Given the description of an element on the screen output the (x, y) to click on. 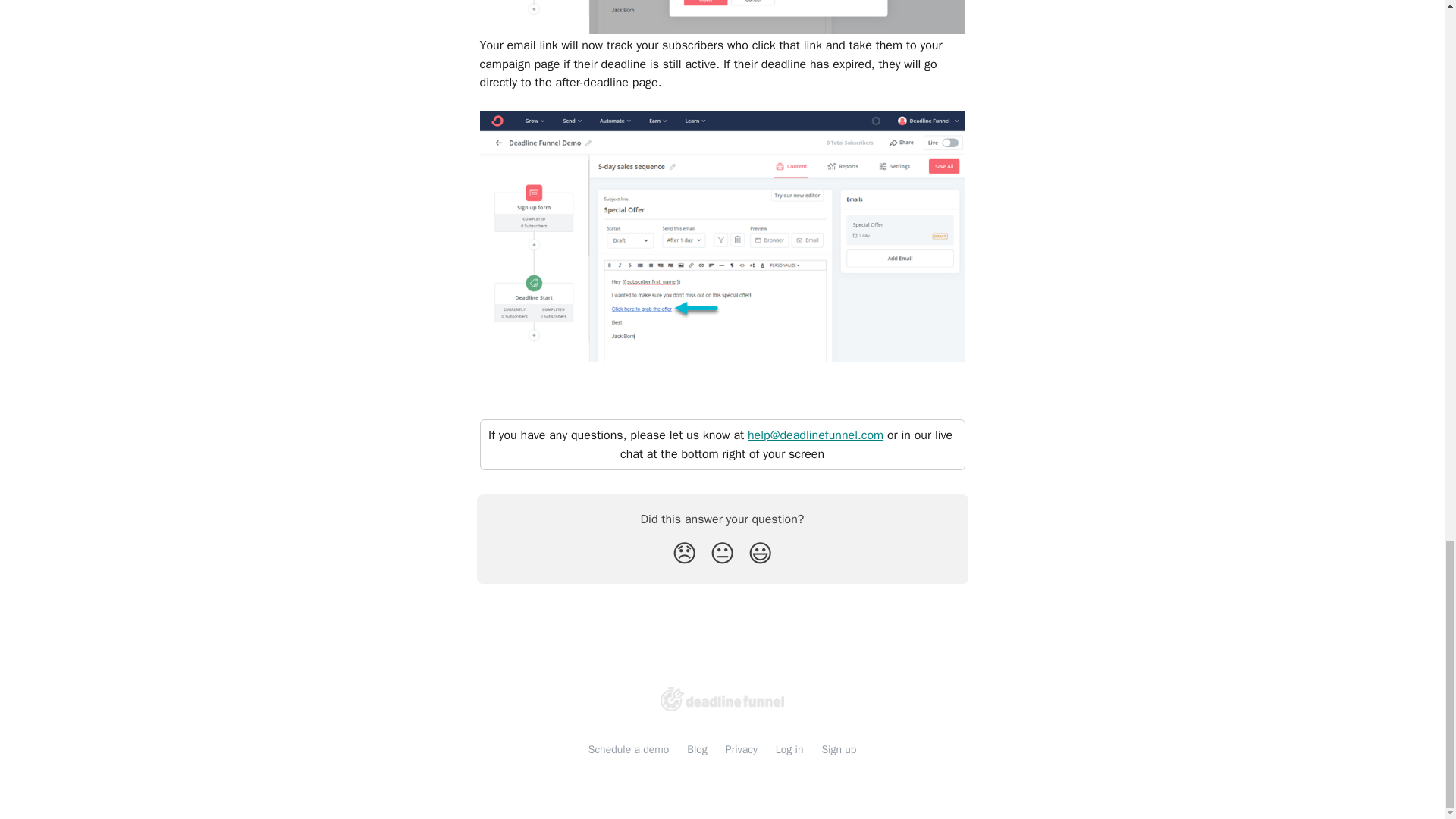
Blog (697, 748)
Sign up (838, 748)
Privacy (741, 748)
Schedule a demo (628, 748)
Log in (789, 748)
